Given the description of an element on the screen output the (x, y) to click on. 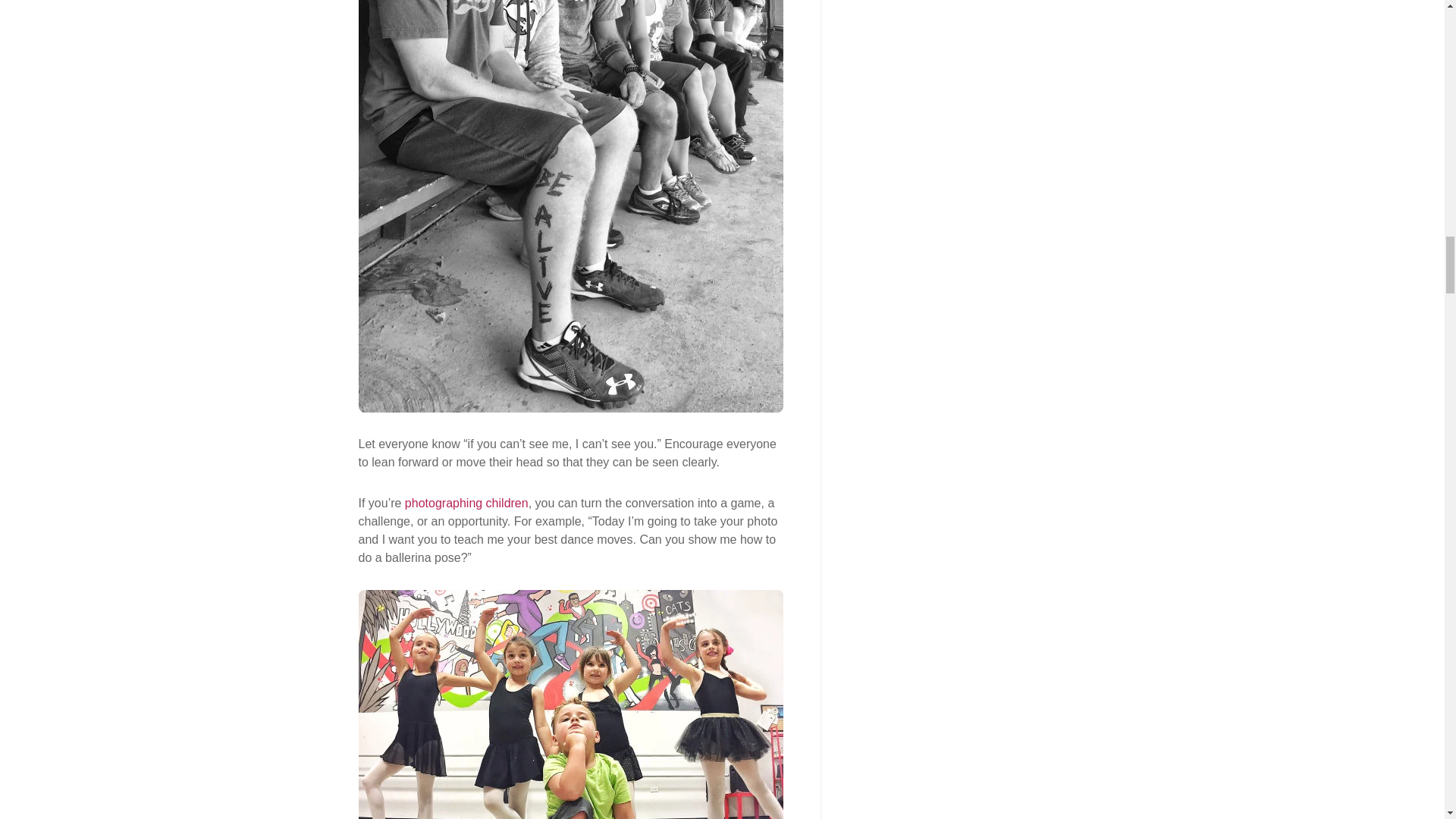
photographing children (466, 502)
